Given the description of an element on the screen output the (x, y) to click on. 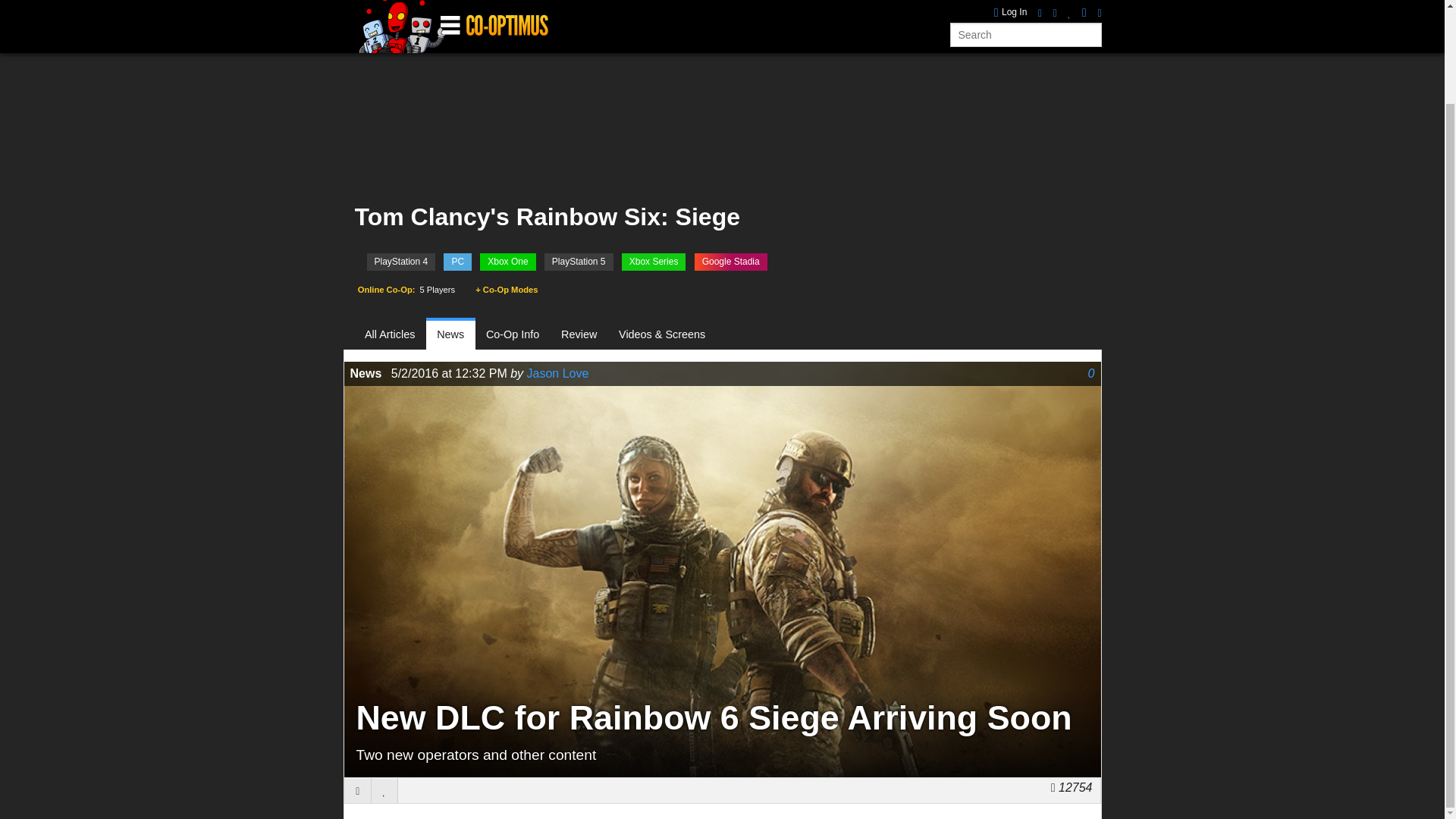
Google Stadia (730, 262)
PlayStation 4 (400, 262)
Xbox Series (653, 262)
PlayStation 5 (578, 262)
Xbox One (507, 262)
All Articles (395, 334)
PC (457, 262)
